Given the description of an element on the screen output the (x, y) to click on. 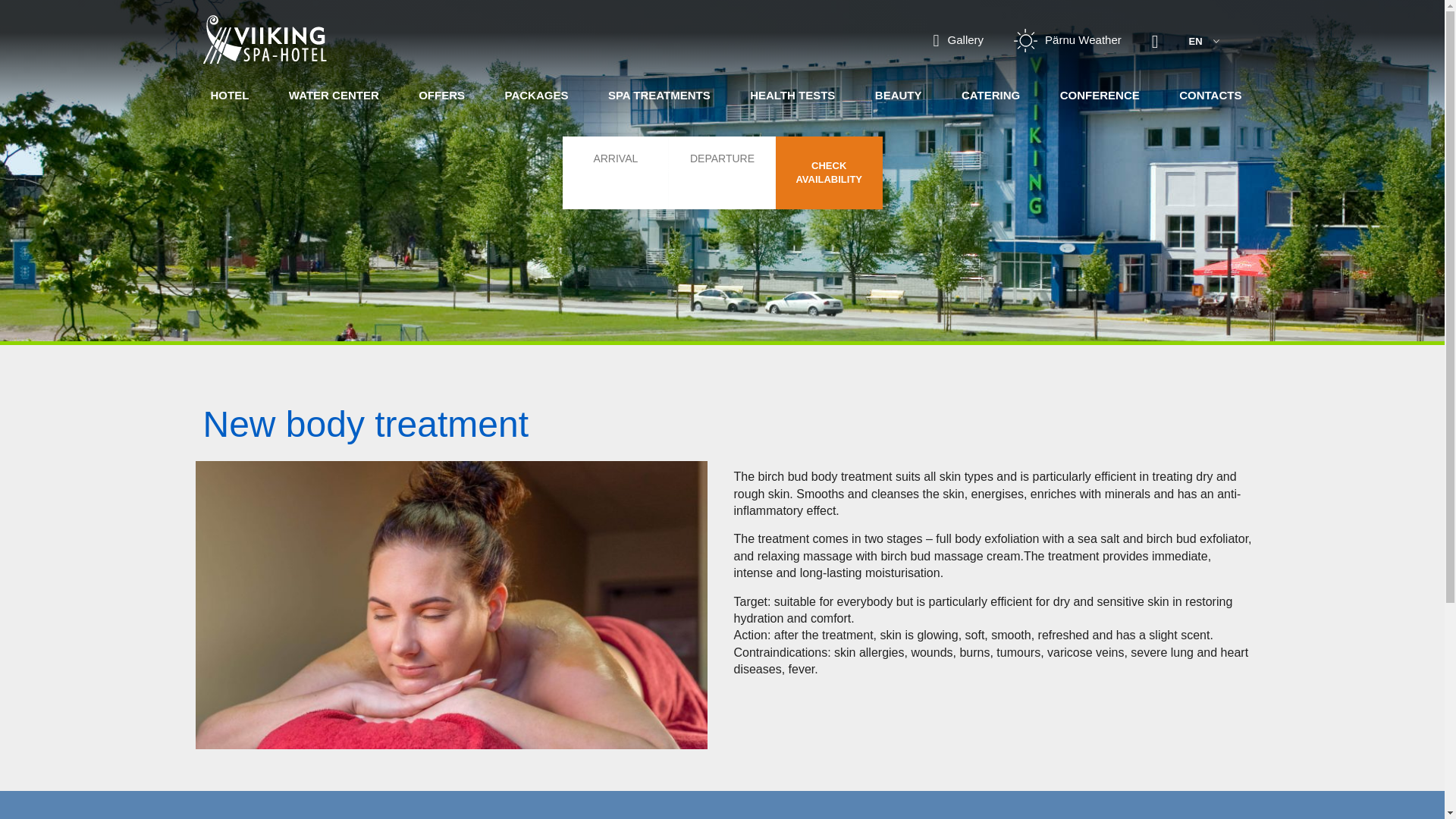
PACKAGES (537, 92)
HOTEL (229, 92)
Viiking spa-hotel logo (264, 39)
Hotel (229, 92)
Viiking spa (264, 39)
Gallery (958, 40)
WATER CENTER (333, 92)
EN (1200, 41)
OFFERS (441, 92)
